Given the description of an element on the screen output the (x, y) to click on. 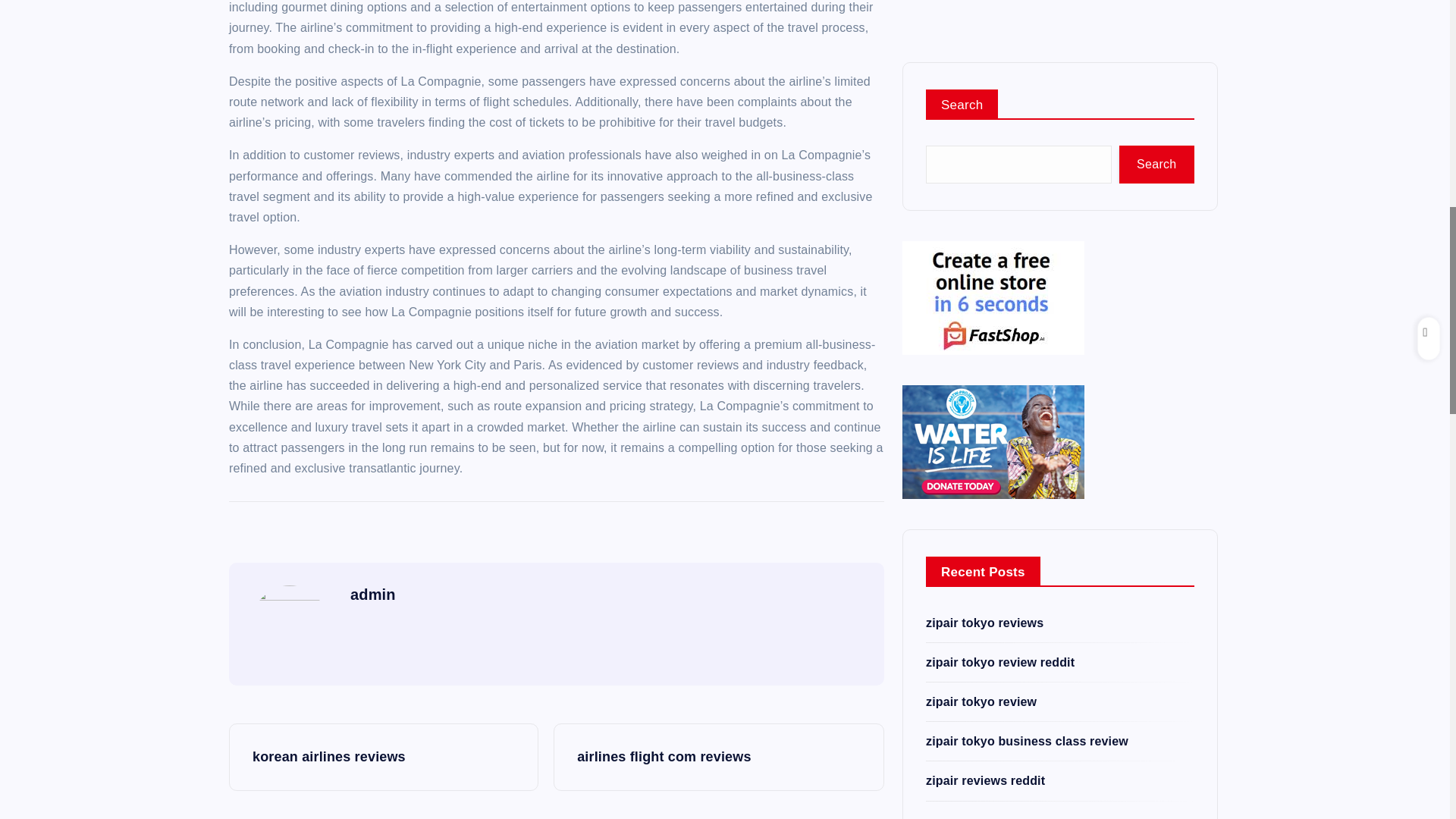
korean airlines reviews (383, 757)
admin (373, 594)
airlines flight com reviews (718, 757)
zipair tokyo review (981, 259)
zipair tokyo reviews (984, 180)
zipair tokyo review reddit (1000, 219)
